Given the description of an element on the screen output the (x, y) to click on. 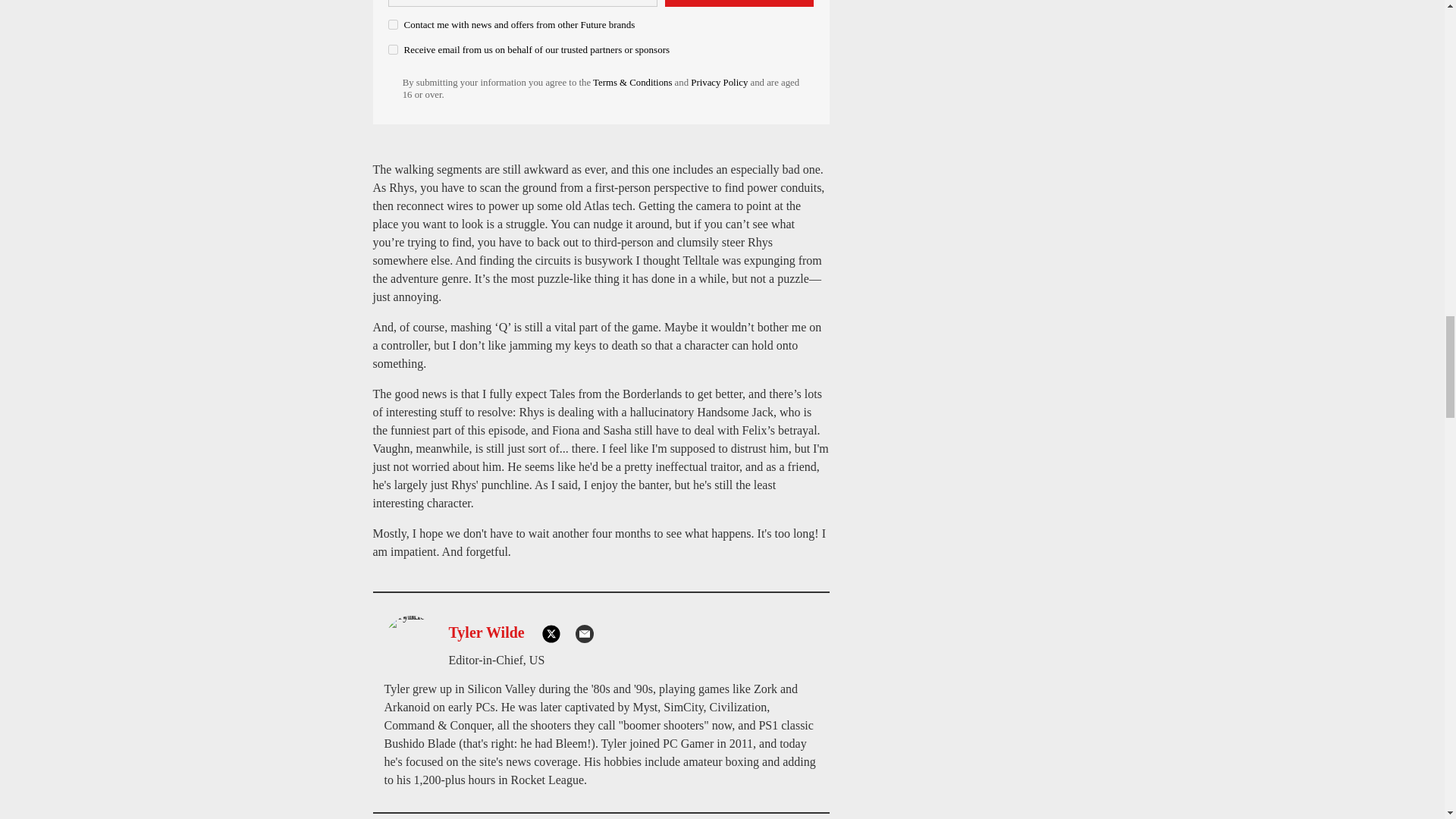
on (392, 24)
Sign me up (739, 3)
on (392, 49)
